Given the description of an element on the screen output the (x, y) to click on. 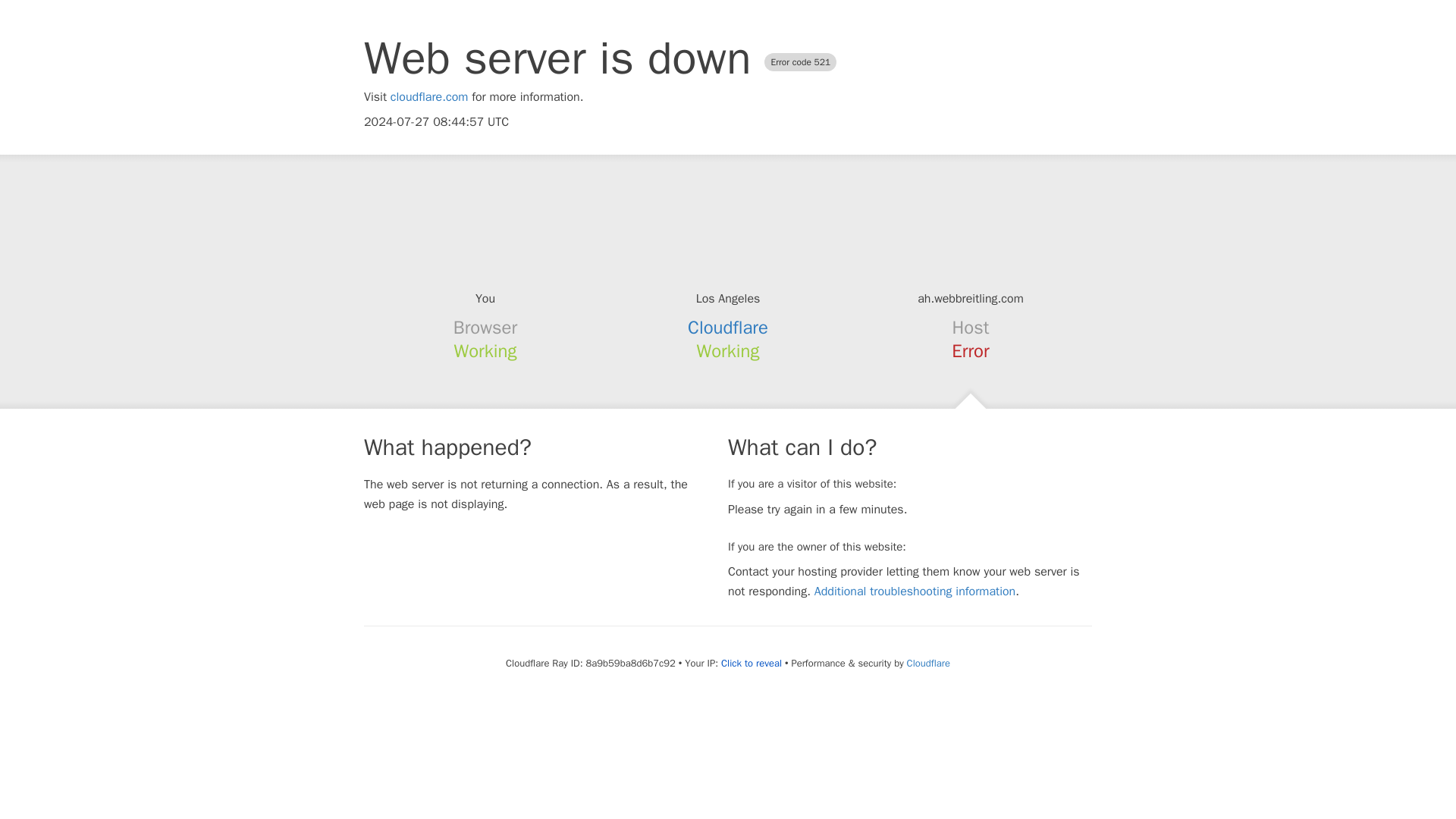
Additional troubleshooting information (913, 590)
Click to reveal (750, 663)
Cloudflare (928, 662)
Cloudflare (727, 327)
cloudflare.com (429, 96)
